Given the description of an element on the screen output the (x, y) to click on. 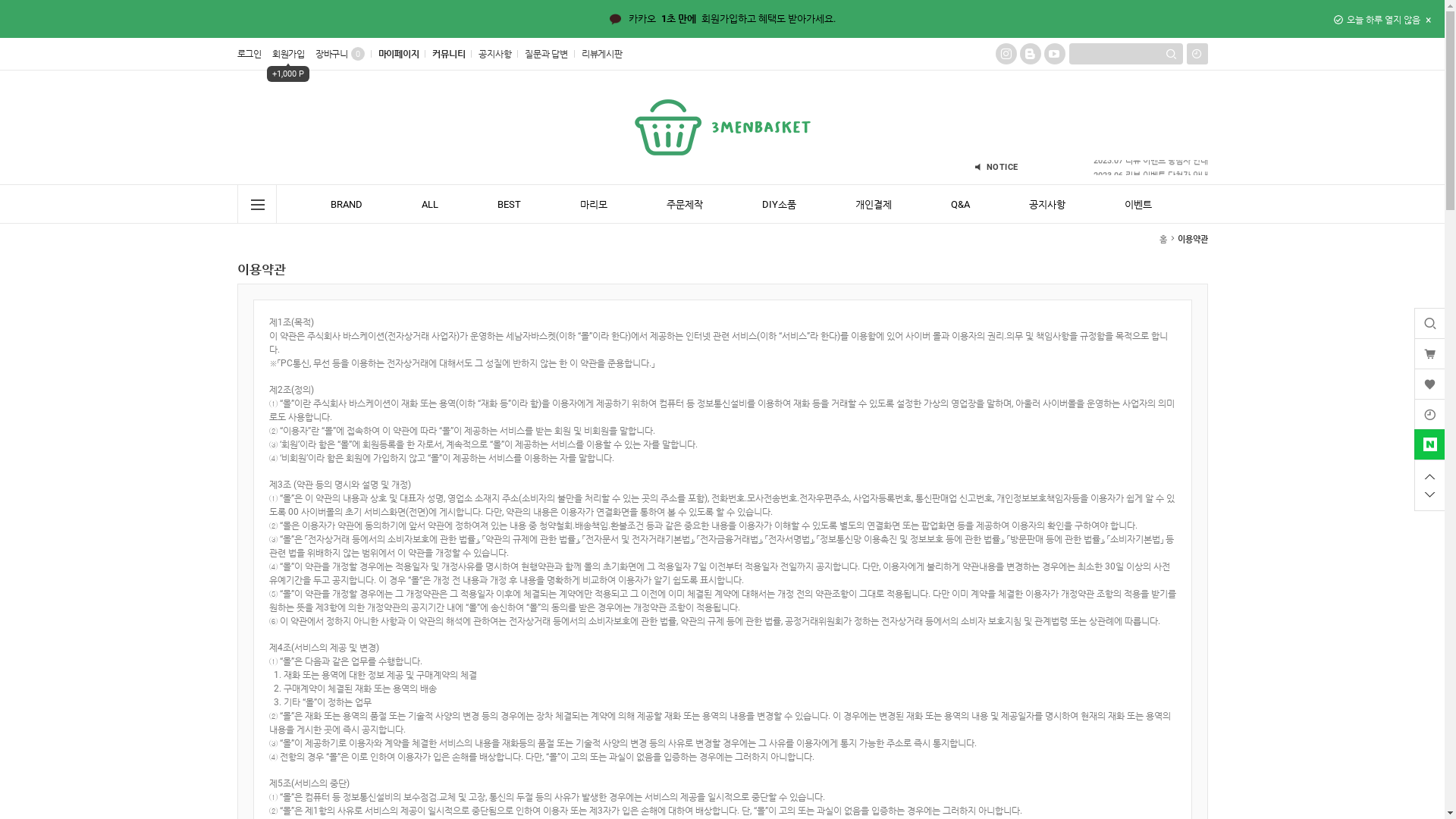
ALL Element type: text (429, 203)
BRAND Element type: text (346, 203)
BEST Element type: text (509, 203)
Q&A Element type: text (959, 203)
